Given the description of an element on the screen output the (x, y) to click on. 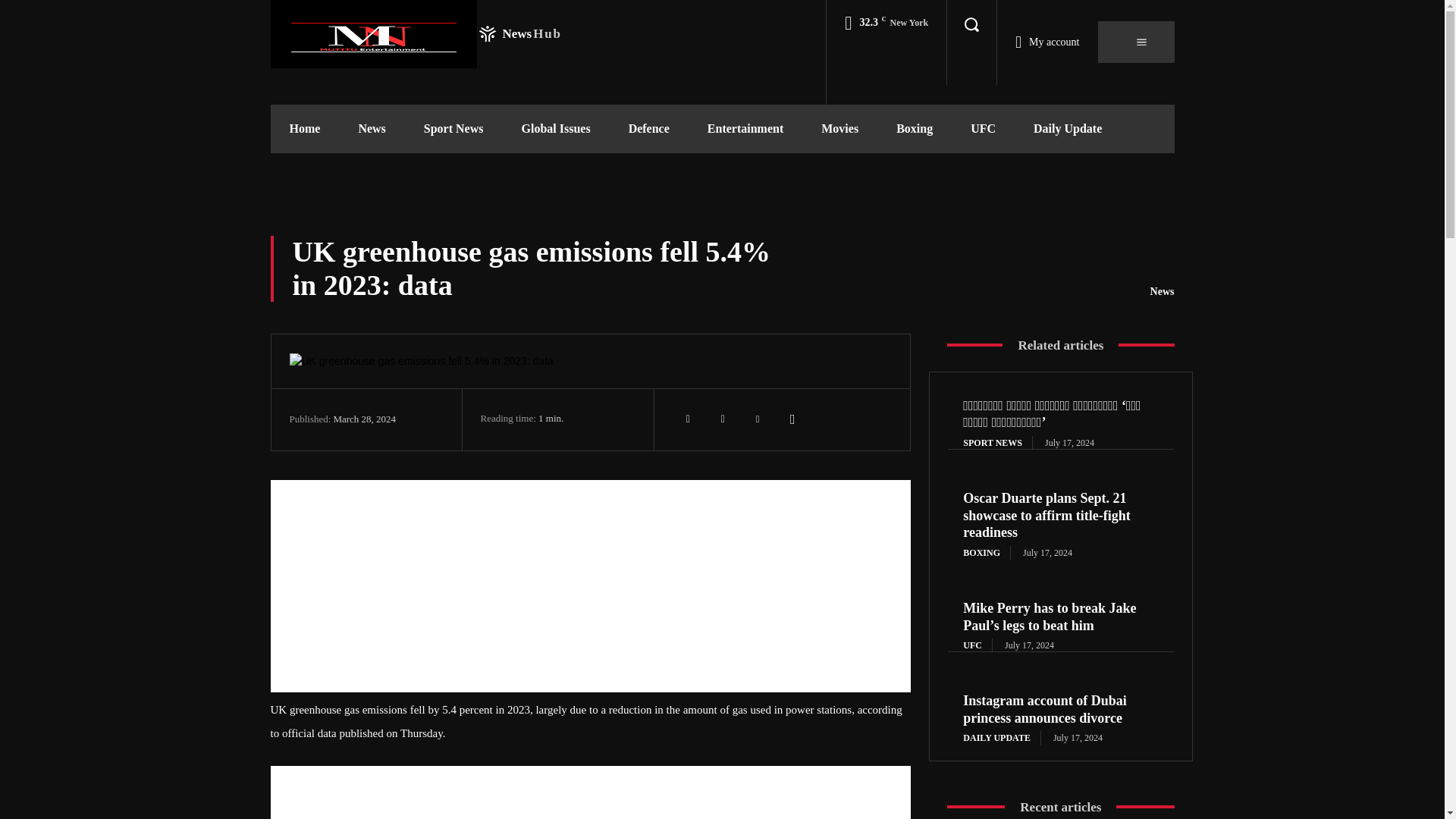
Home (414, 33)
Global Issues (304, 128)
Facebook (555, 128)
Sport News (687, 419)
News (453, 128)
